Given the description of an element on the screen output the (x, y) to click on. 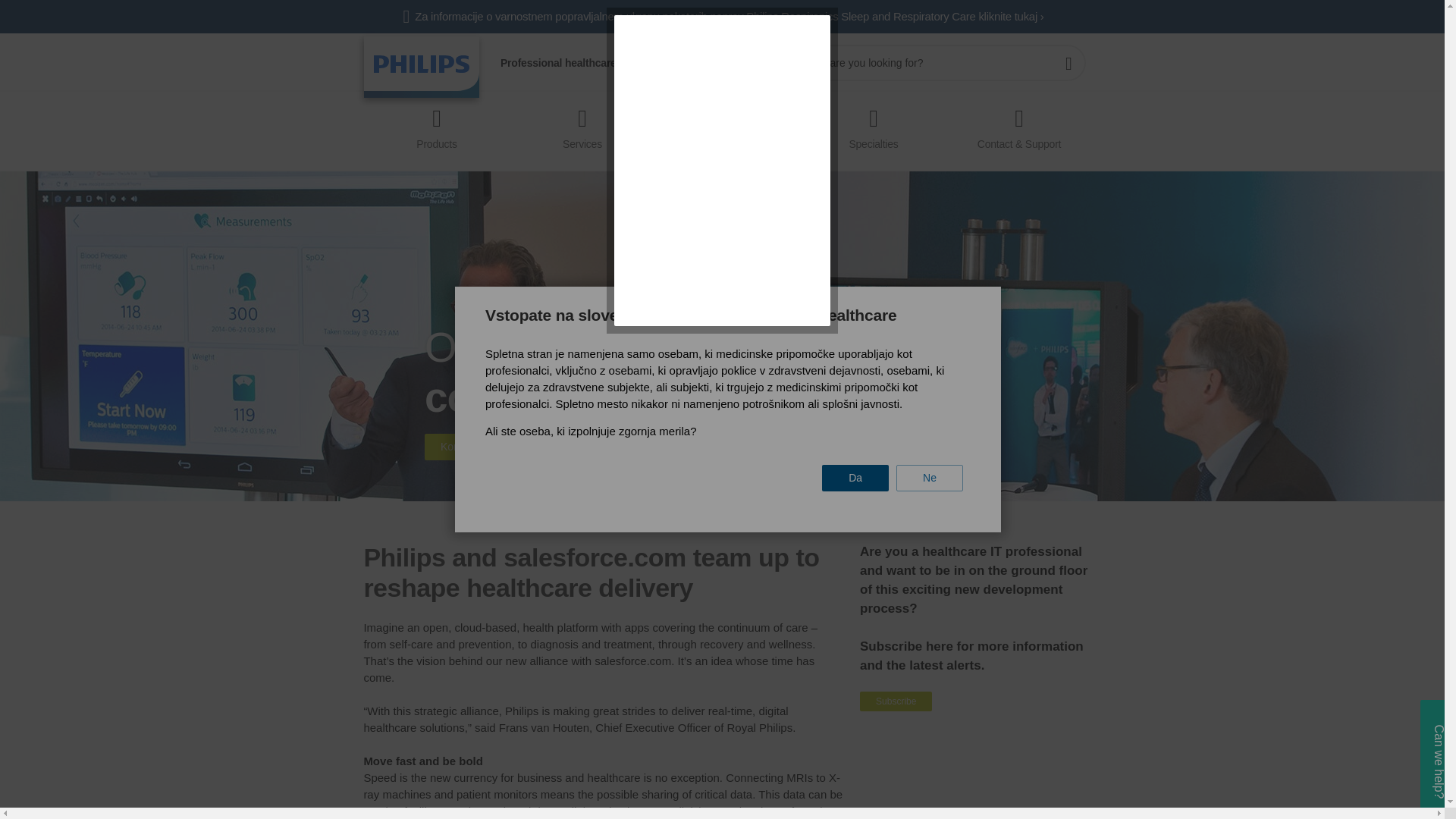
Professional healthcare (558, 63)
Products (436, 123)
Services (582, 123)
Da (855, 477)
Ne (929, 477)
Home (421, 66)
